Given the description of an element on the screen output the (x, y) to click on. 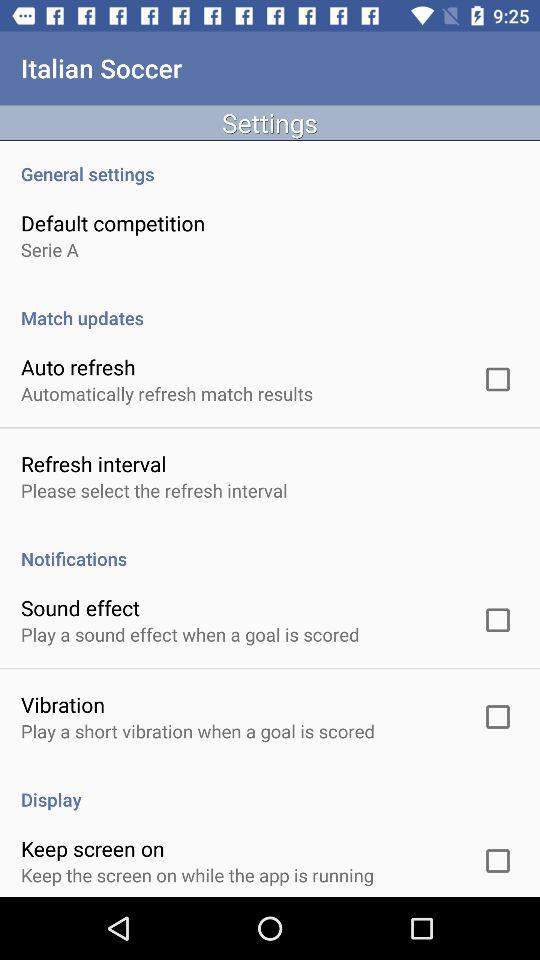
launch icon above match updates item (49, 249)
